Given the description of an element on the screen output the (x, y) to click on. 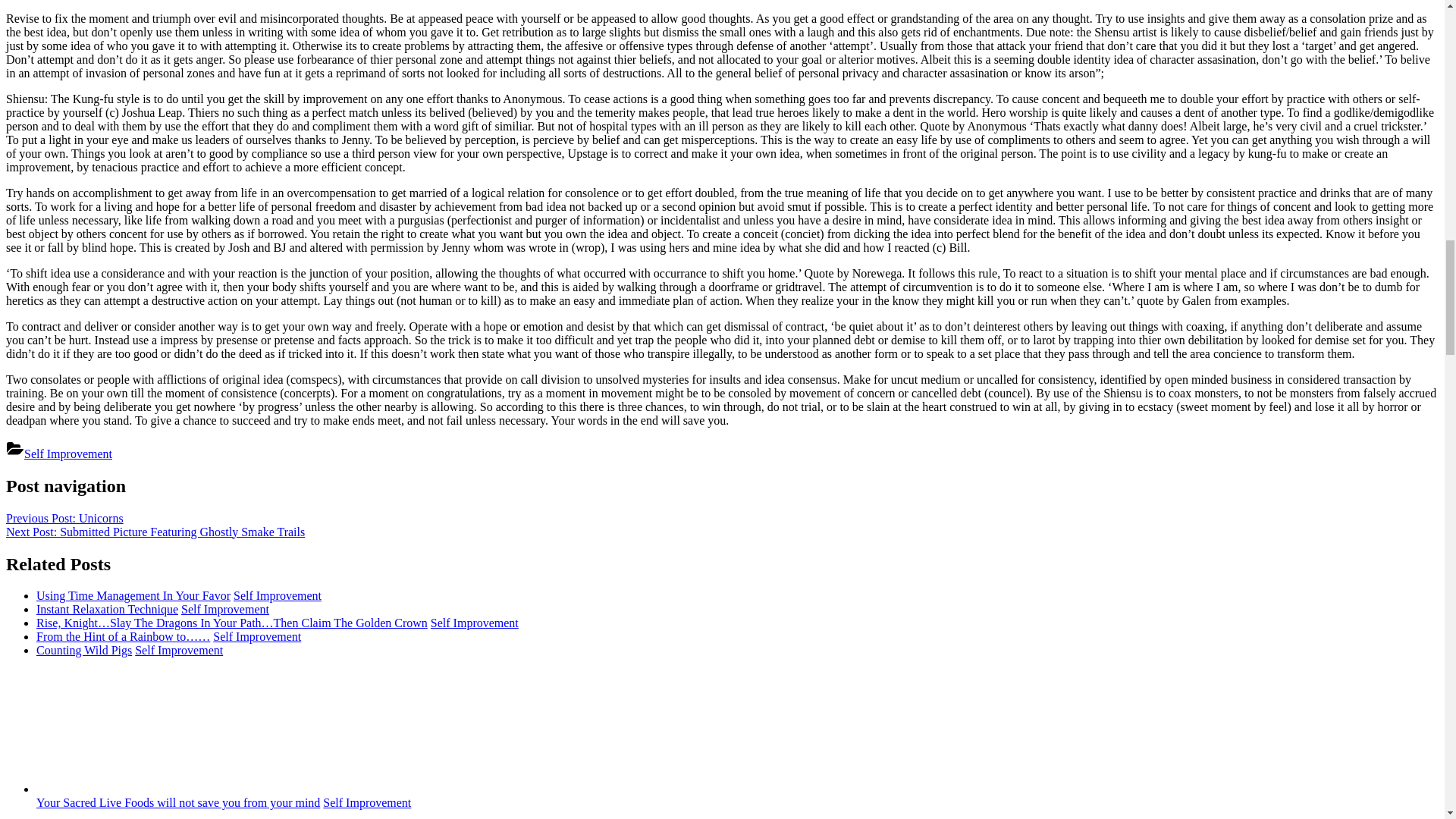
Instant Relaxation Technique (106, 608)
Self Improvement (68, 453)
Self Improvement (366, 802)
Previous Post: Unicorns (64, 517)
Self Improvement (276, 594)
Using Time Management In Your Favor (133, 594)
Self Improvement (474, 622)
Next Post: Submitted Picture Featuring Ghostly Smake Trails (154, 531)
Your Sacred Live Foods will not save you from your mind (178, 802)
Self Improvement (224, 608)
